Given the description of an element on the screen output the (x, y) to click on. 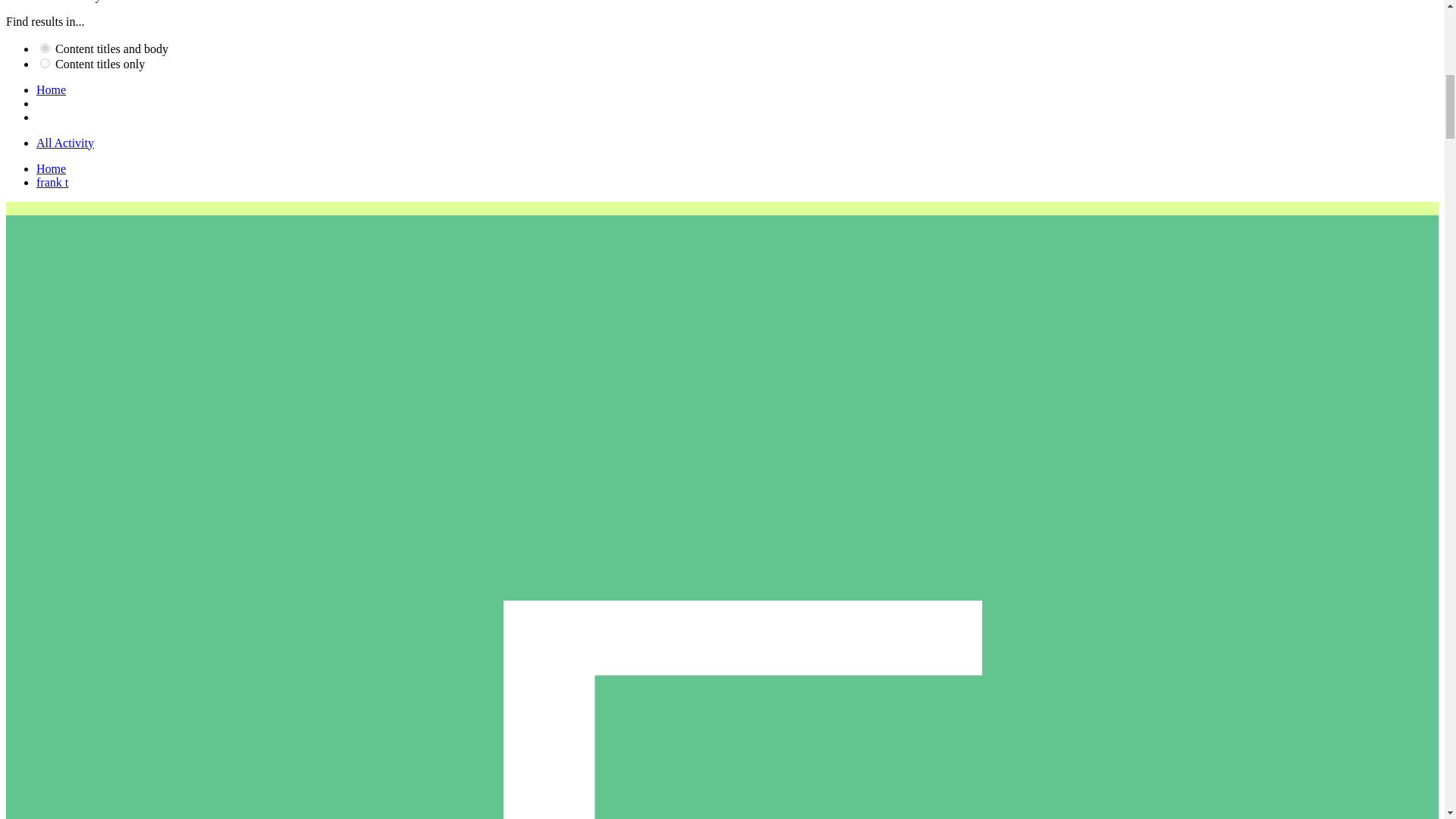
Home (50, 168)
frank t (52, 182)
Home (50, 89)
Home (50, 168)
all (44, 48)
titles (44, 62)
All Activity (65, 142)
